Given the description of an element on the screen output the (x, y) to click on. 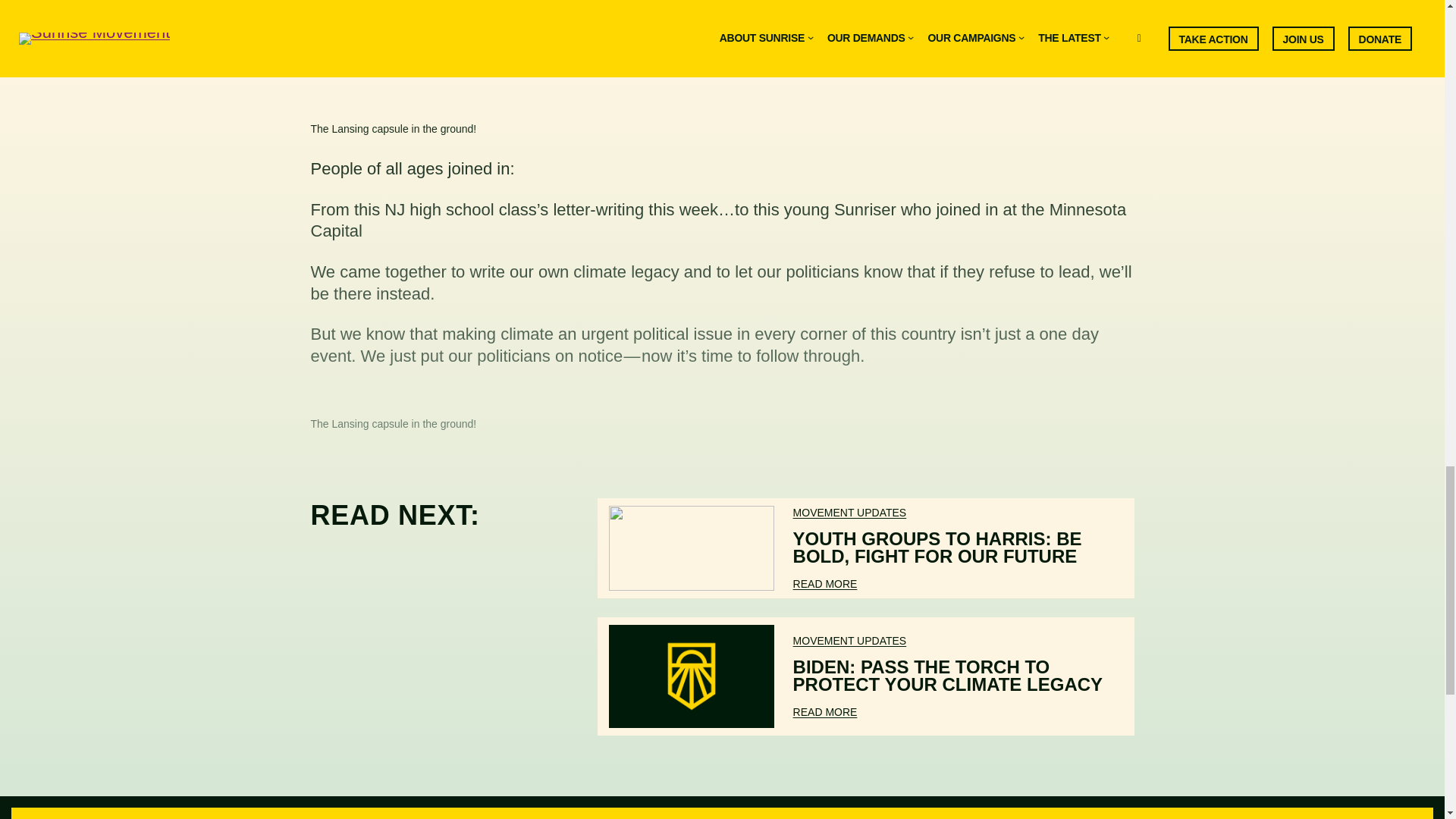
MOVEMENT UPDATES (850, 640)
MOVEMENT UPDATES (850, 512)
